Given the description of an element on the screen output the (x, y) to click on. 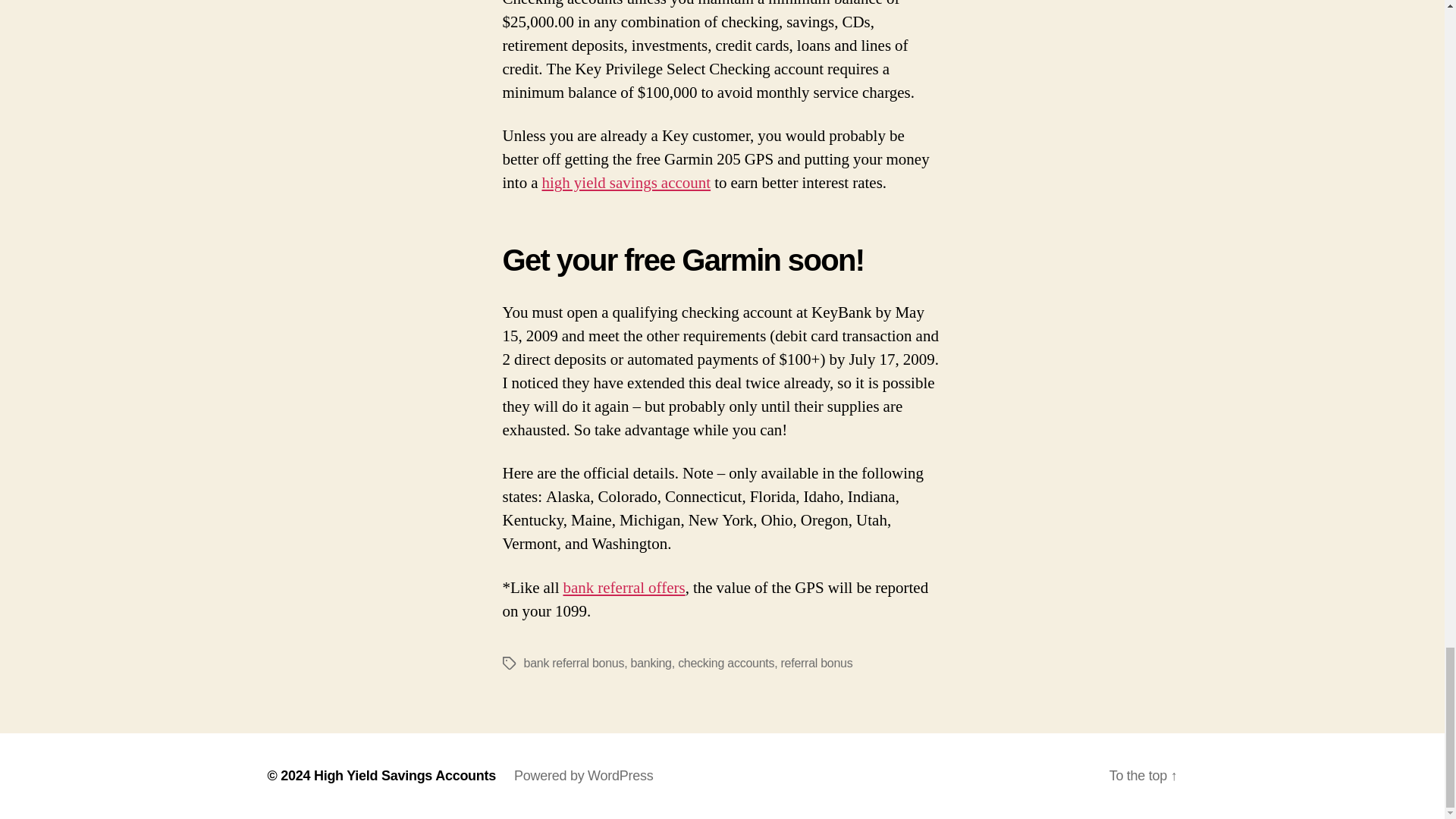
high yield savings account rates (625, 182)
top bank referral offers and bonuses (623, 588)
